Given the description of an element on the screen output the (x, y) to click on. 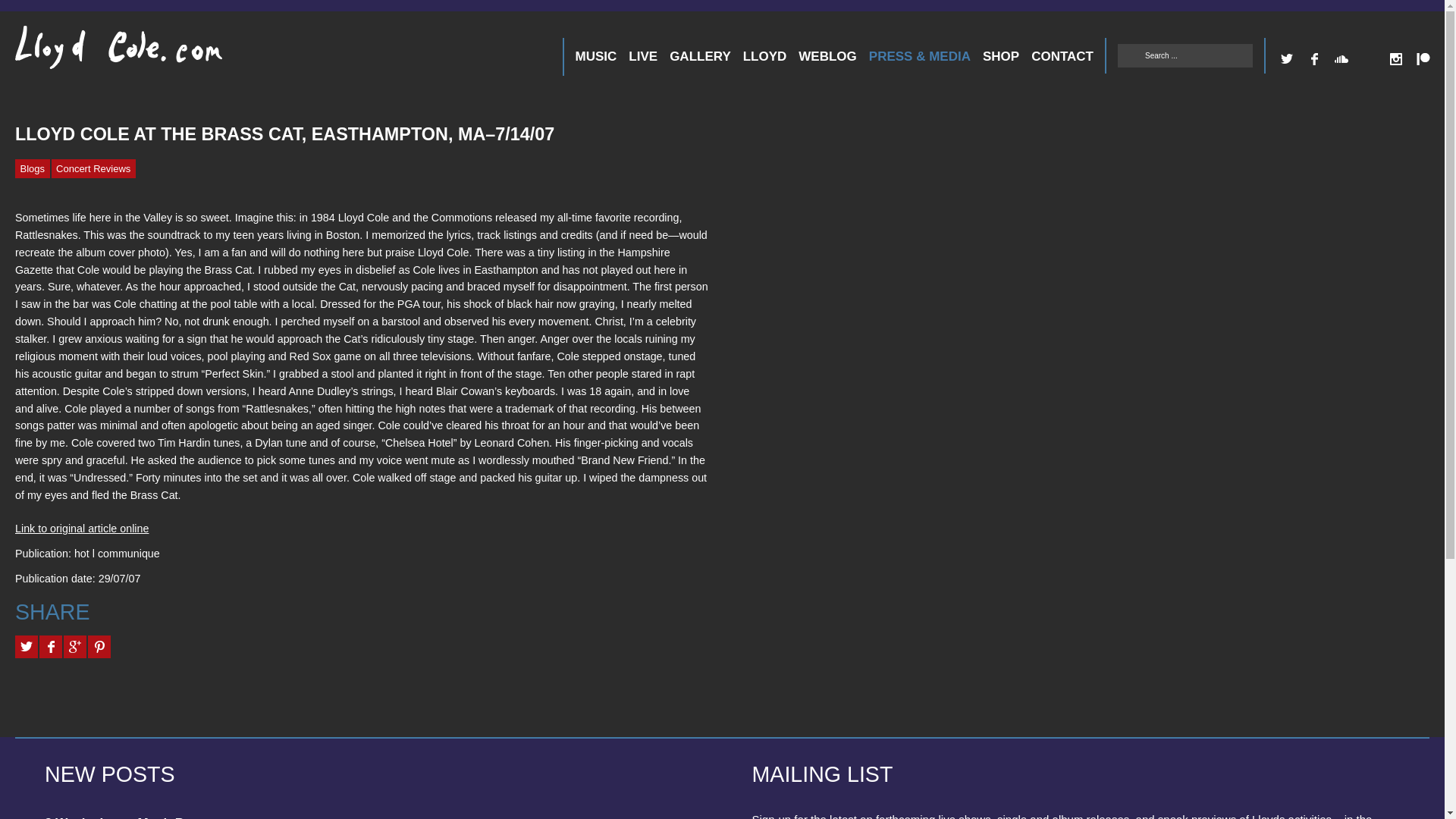
Link to original article online (81, 528)
Facebook (1313, 58)
SHOP (1000, 56)
lloydcole.com (103, 53)
CONTACT (1062, 56)
LIVE (643, 56)
MUSIC (596, 56)
SoundCloud (1341, 58)
WEBLOG (827, 56)
Facebook (1313, 58)
Twitter (1286, 58)
Search ... (1185, 55)
Twitter (1286, 58)
LLOYD (764, 56)
Strava (1368, 58)
